Given the description of an element on the screen output the (x, y) to click on. 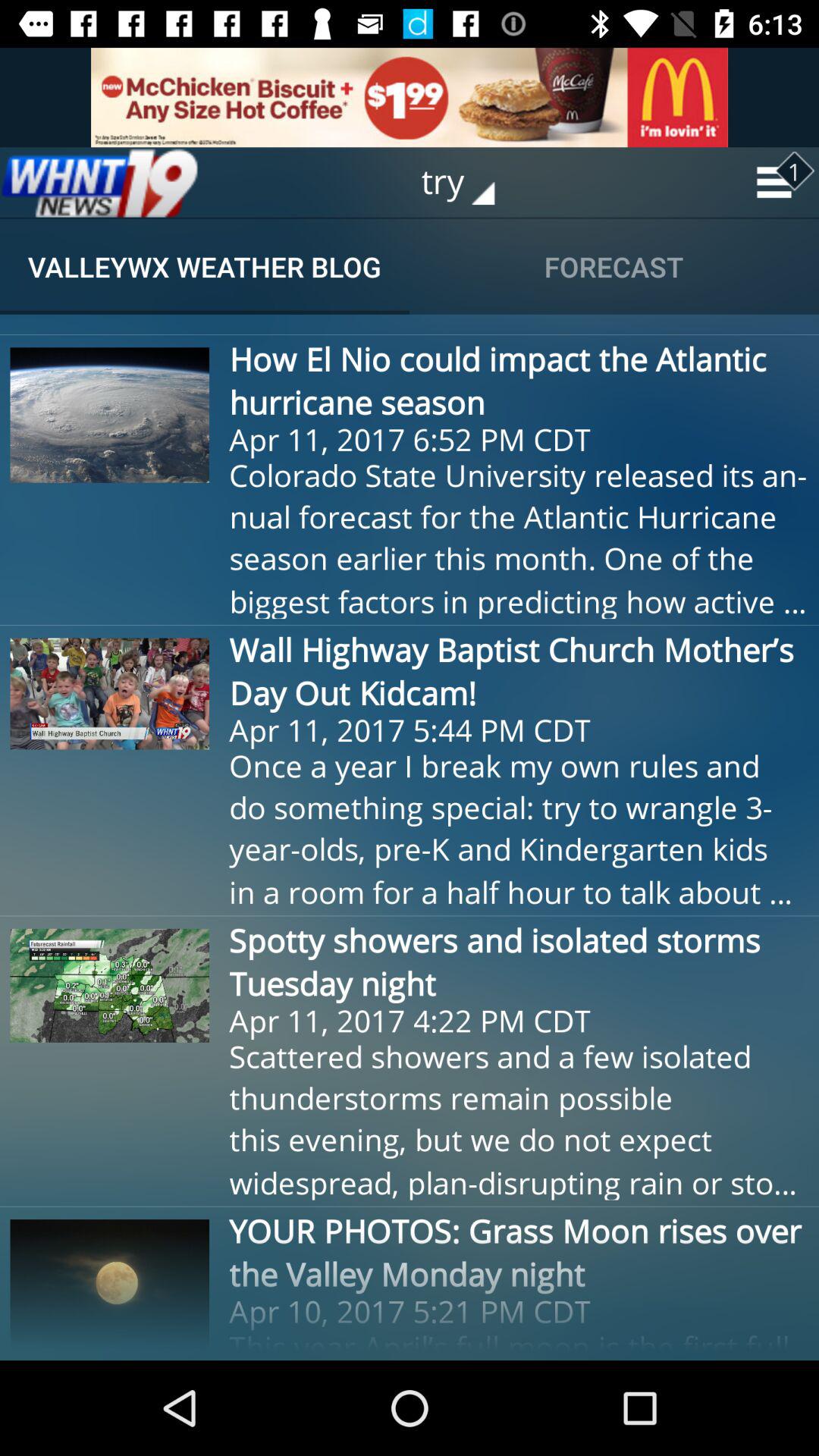
turn on the item next to try (99, 182)
